Given the description of an element on the screen output the (x, y) to click on. 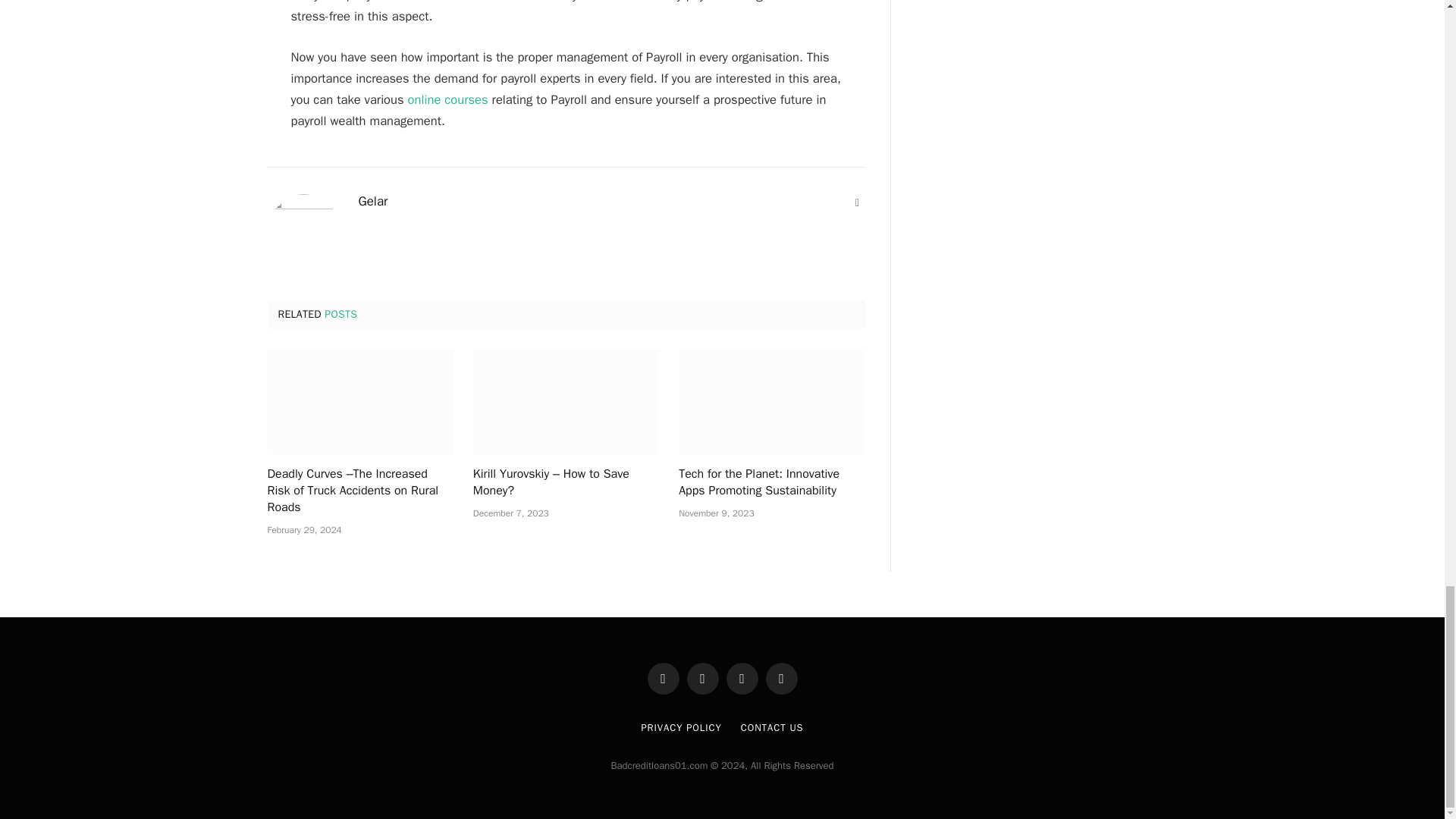
Gelar (372, 201)
Website (856, 202)
Posts by Gelar (372, 201)
Website (856, 202)
online courses (447, 99)
